Given the description of an element on the screen output the (x, y) to click on. 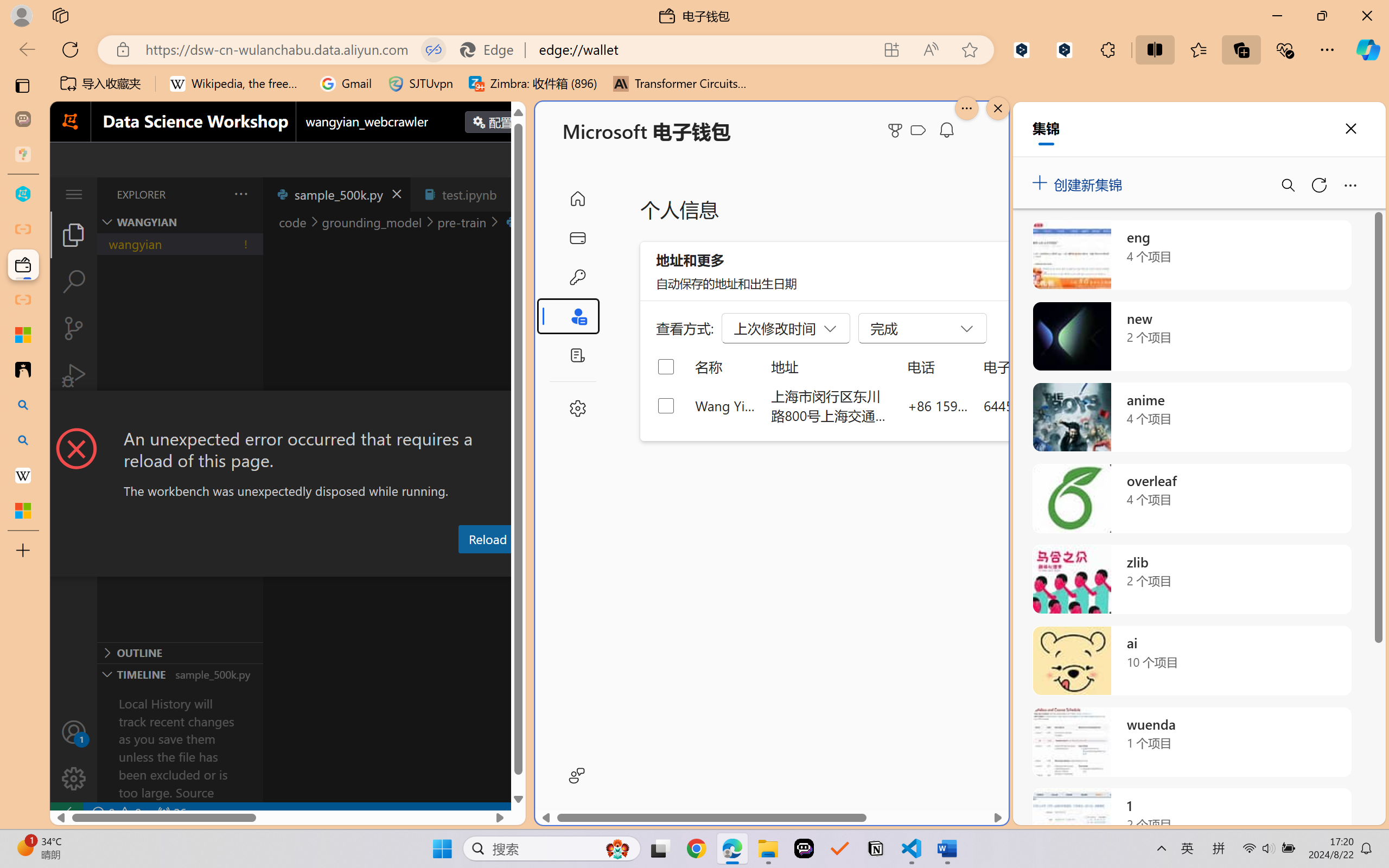
Close Dialog (520, 410)
Close (Ctrl+F4) (512, 194)
Gmail (345, 83)
Problems (Ctrl+Shift+M) (308, 565)
